Given the description of an element on the screen output the (x, y) to click on. 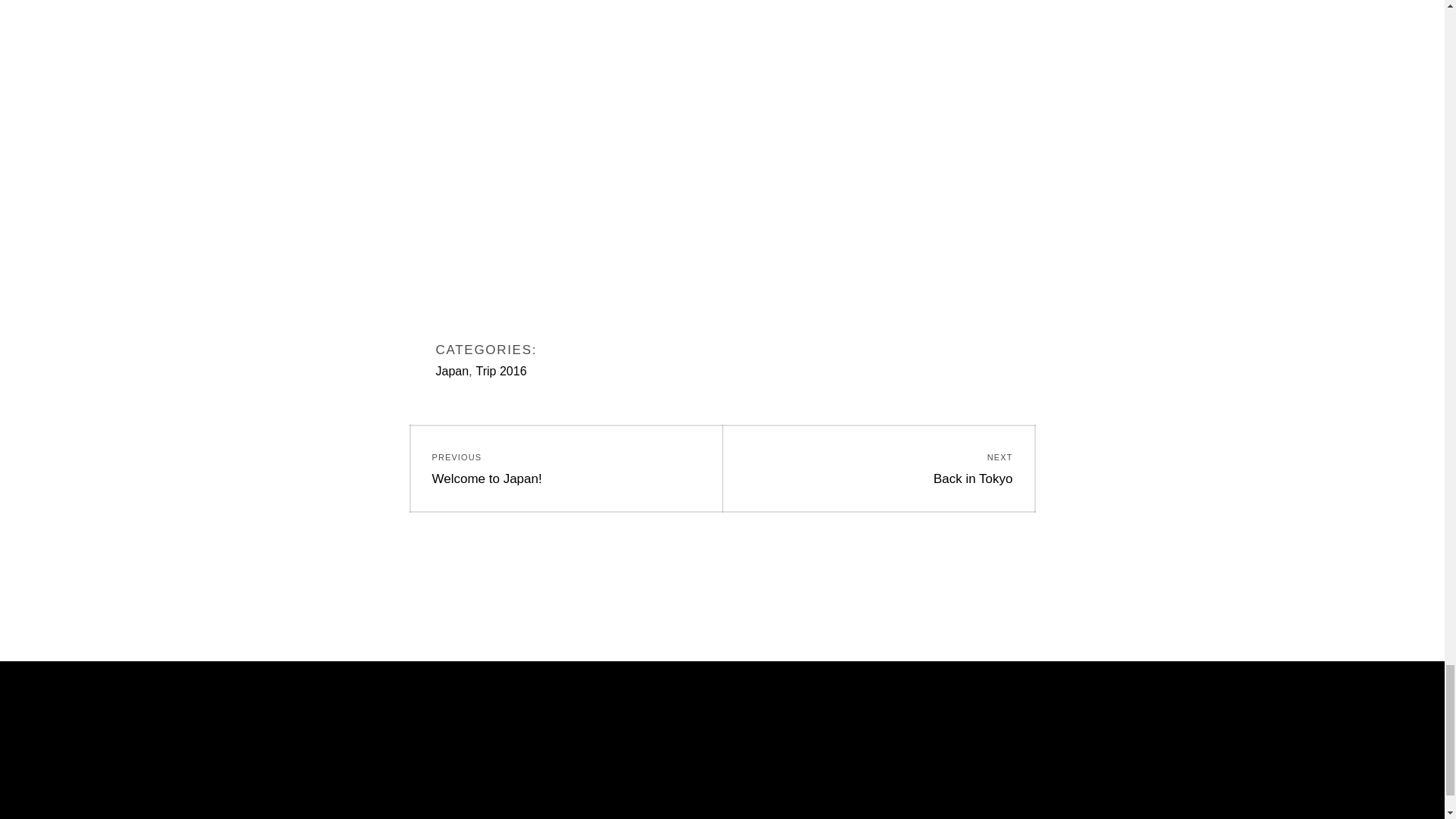
Trip 2016 (501, 370)
Japan (566, 468)
